Given the description of an element on the screen output the (x, y) to click on. 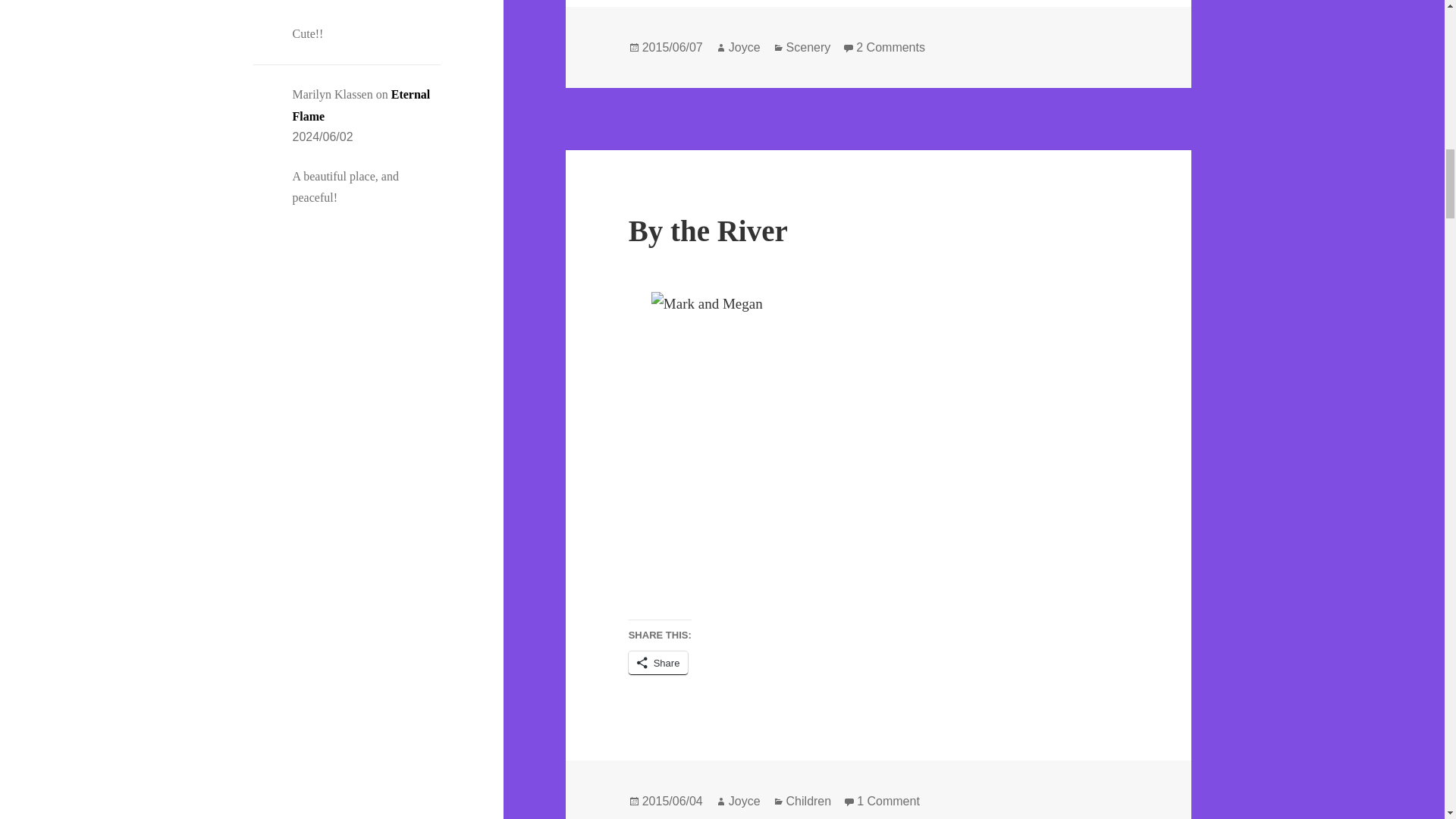
Joyce (744, 47)
Eternal Flame (890, 47)
Scenery (361, 104)
